Given the description of an element on the screen output the (x, y) to click on. 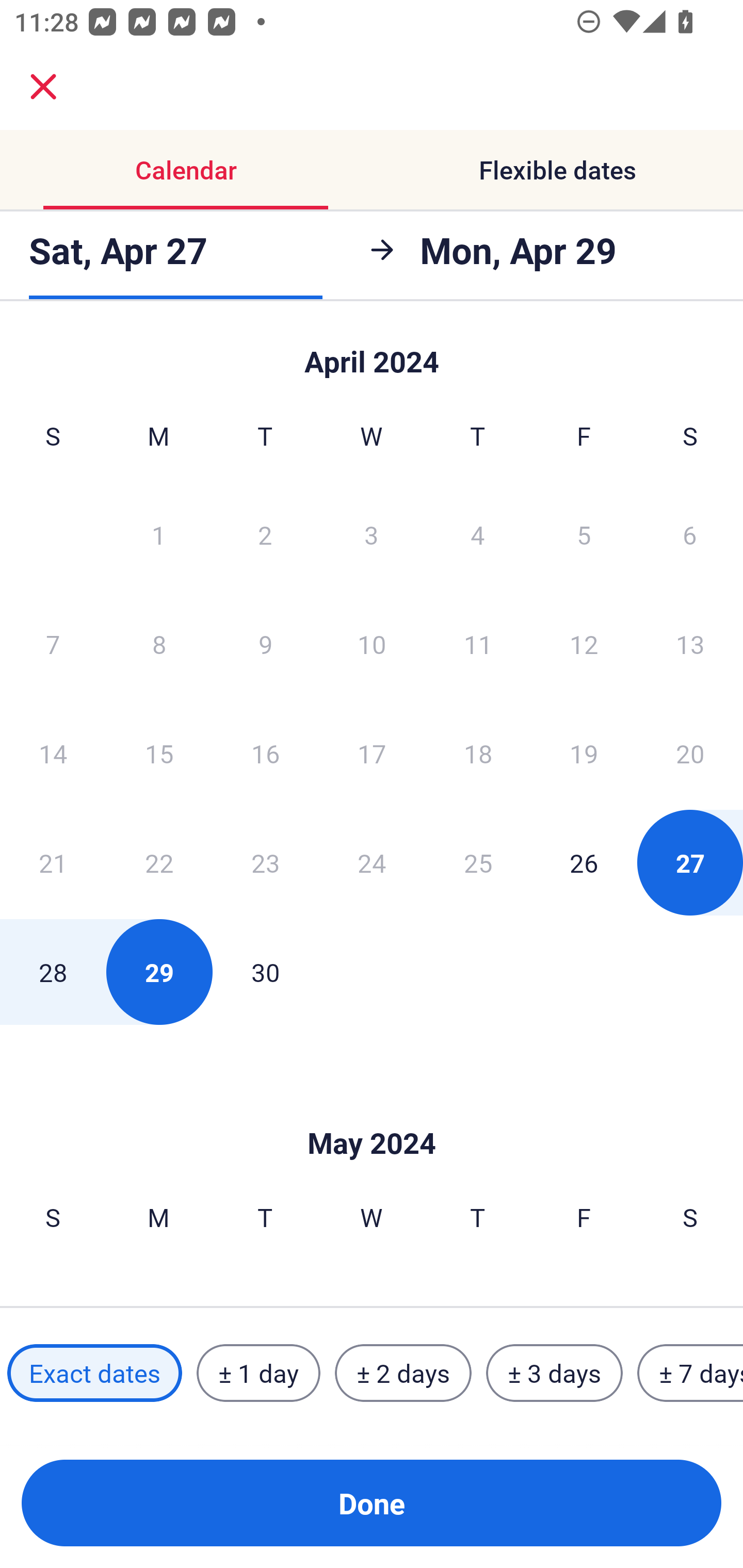
close. (43, 86)
Flexible dates (557, 170)
Skip to Done (371, 352)
1 Monday, April 1, 2024 (158, 534)
2 Tuesday, April 2, 2024 (264, 534)
3 Wednesday, April 3, 2024 (371, 534)
4 Thursday, April 4, 2024 (477, 534)
5 Friday, April 5, 2024 (583, 534)
6 Saturday, April 6, 2024 (689, 534)
7 Sunday, April 7, 2024 (53, 643)
8 Monday, April 8, 2024 (159, 643)
9 Tuesday, April 9, 2024 (265, 643)
10 Wednesday, April 10, 2024 (371, 643)
11 Thursday, April 11, 2024 (477, 643)
12 Friday, April 12, 2024 (584, 643)
13 Saturday, April 13, 2024 (690, 643)
14 Sunday, April 14, 2024 (53, 752)
15 Monday, April 15, 2024 (159, 752)
16 Tuesday, April 16, 2024 (265, 752)
17 Wednesday, April 17, 2024 (371, 752)
18 Thursday, April 18, 2024 (477, 752)
19 Friday, April 19, 2024 (584, 752)
20 Saturday, April 20, 2024 (690, 752)
21 Sunday, April 21, 2024 (53, 862)
22 Monday, April 22, 2024 (159, 862)
23 Tuesday, April 23, 2024 (265, 862)
24 Wednesday, April 24, 2024 (371, 862)
25 Thursday, April 25, 2024 (477, 862)
26 Friday, April 26, 2024 (584, 862)
30 Tuesday, April 30, 2024 (265, 971)
Skip to Done (371, 1112)
Exact dates (94, 1372)
± 1 day (258, 1372)
± 2 days (403, 1372)
± 3 days (553, 1372)
± 7 days (690, 1372)
Done (371, 1502)
